Given the description of an element on the screen output the (x, y) to click on. 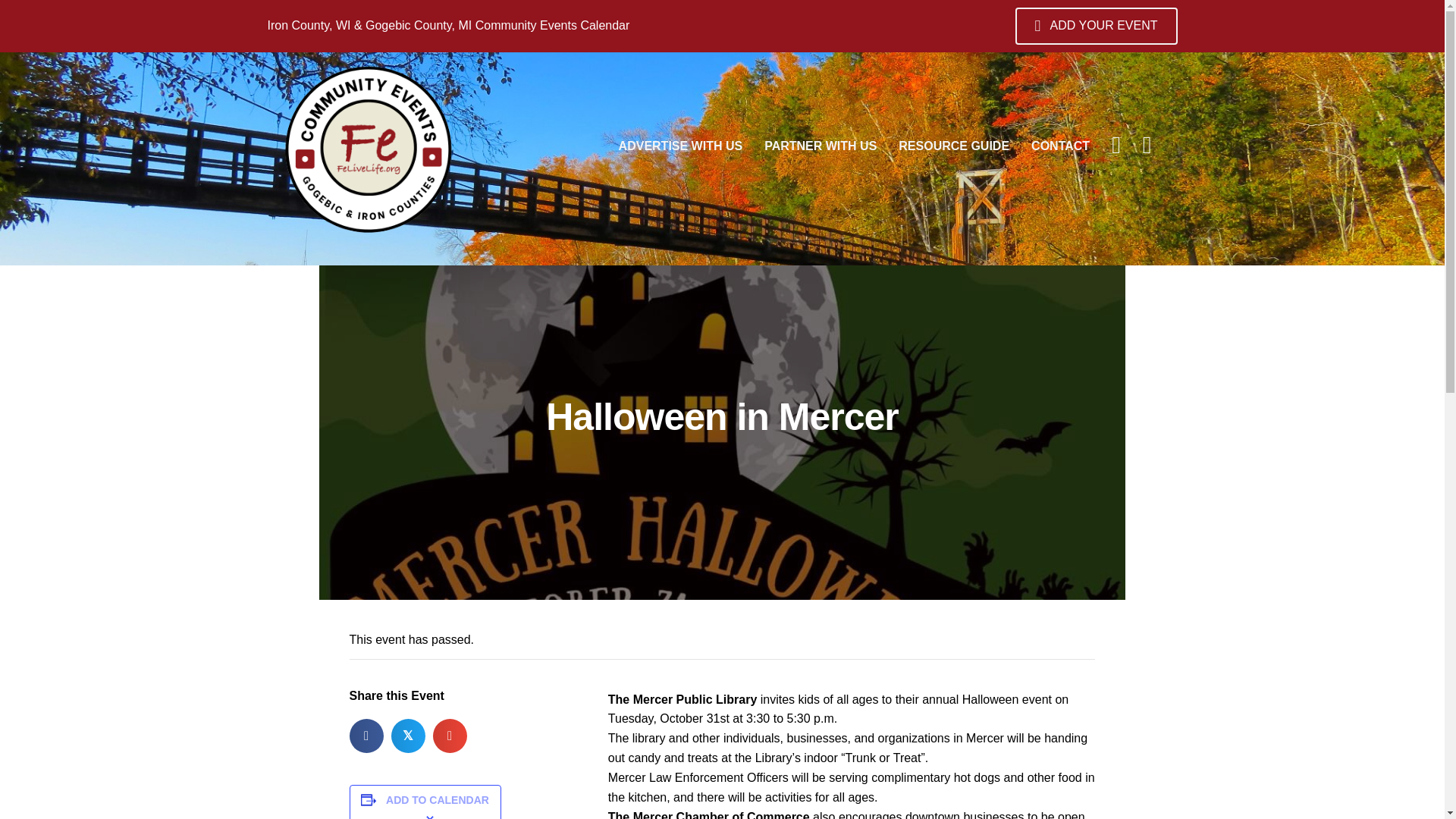
ADD YOUR EVENT (1095, 26)
CONTACT (1060, 146)
Fe-live-life-logo-2023 (368, 149)
ADVERTISE WITH US (681, 146)
ADD TO CALENDAR (437, 799)
RESOURCE GUIDE (954, 146)
PARTNER WITH US (820, 146)
